Given the description of an element on the screen output the (x, y) to click on. 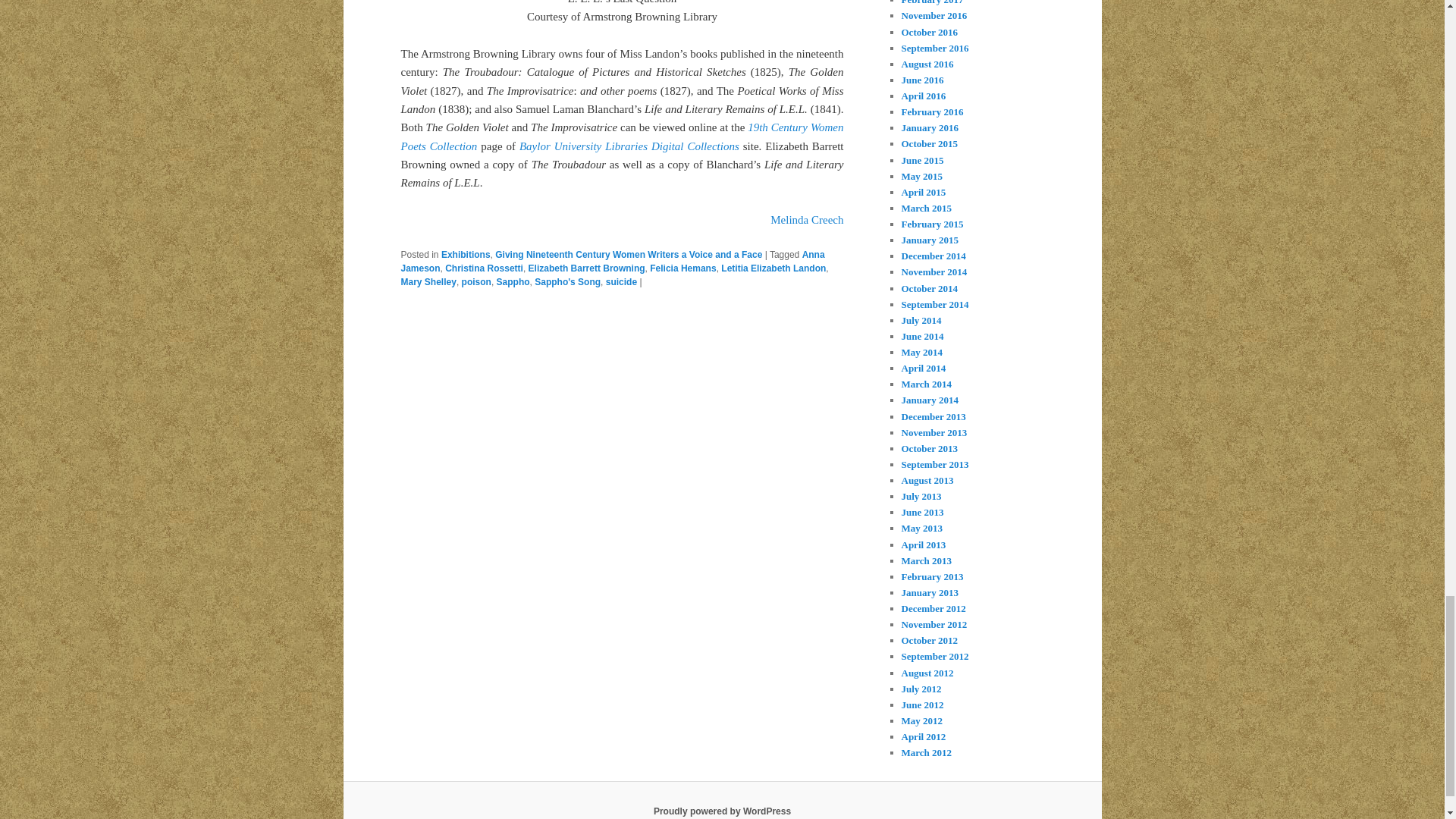
Melinda Creech (806, 219)
19th Century Women Poets Collection (621, 136)
Sappho (512, 281)
Email the author (806, 219)
Exhibitions (465, 254)
Felicia Hemans (682, 267)
Baylor University Libraries Digital Collection (629, 146)
Sappho's Song (566, 281)
Giving Nineteenth Century Women Writers a Voice and a Face (628, 254)
suicide (621, 281)
